Given the description of an element on the screen output the (x, y) to click on. 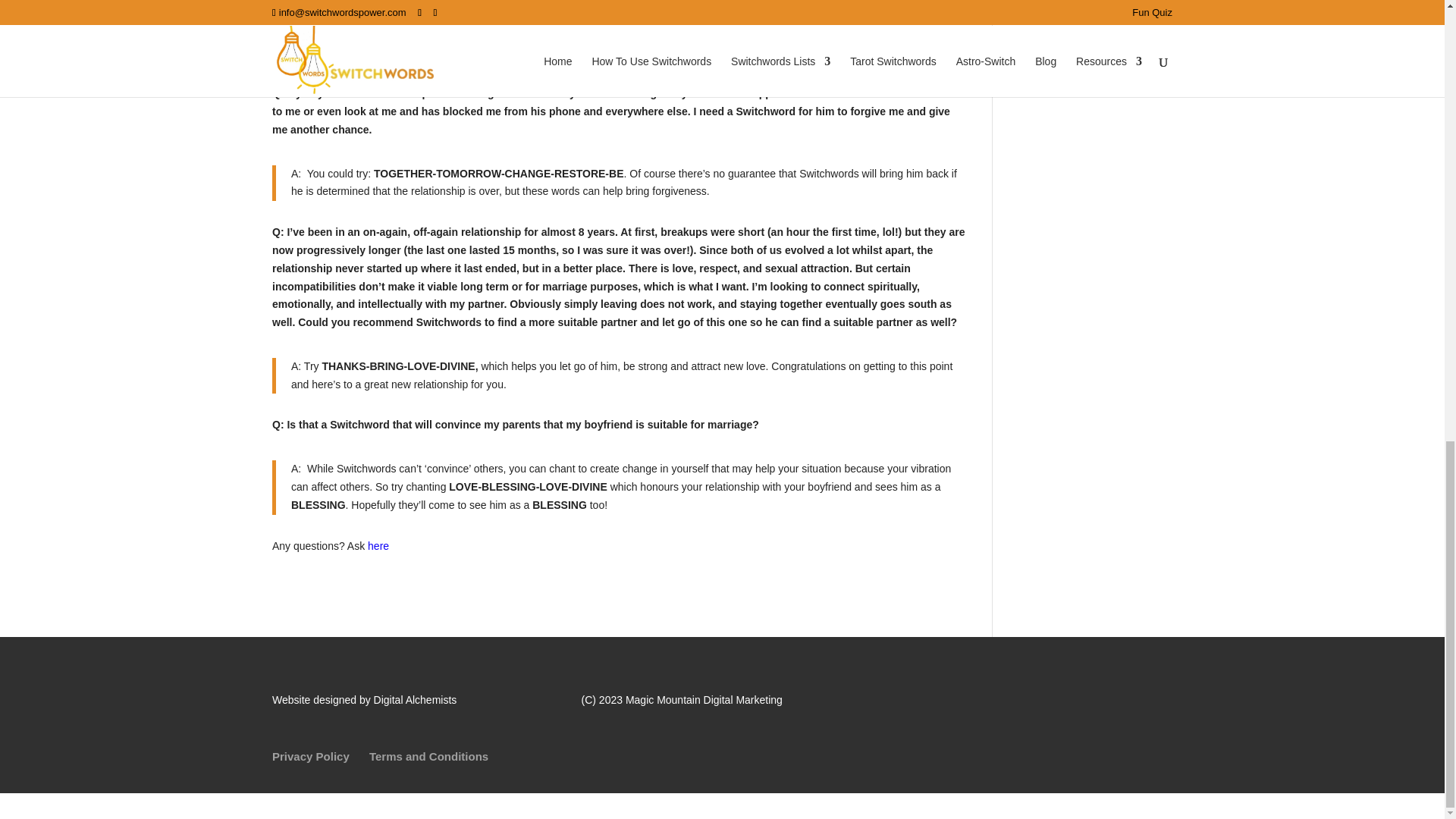
here (378, 545)
